Given the description of an element on the screen output the (x, y) to click on. 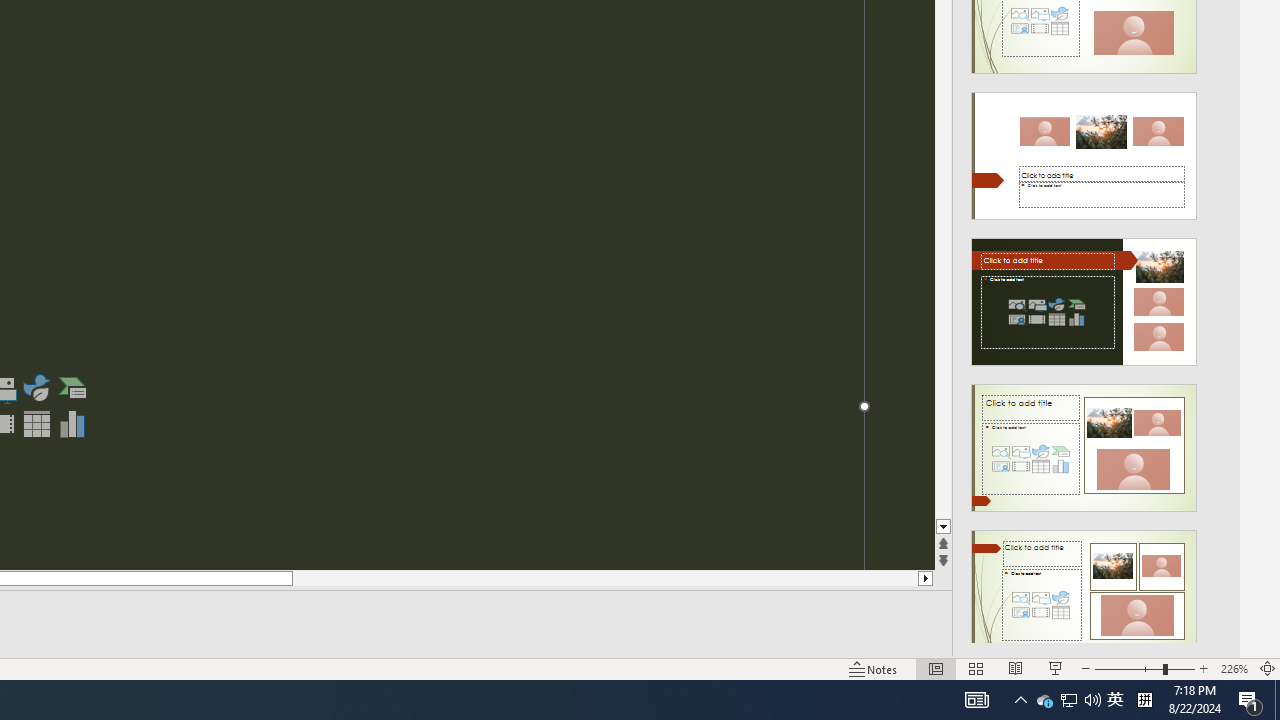
Insert a SmartArt Graphic (73, 387)
